Given the description of an element on the screen output the (x, y) to click on. 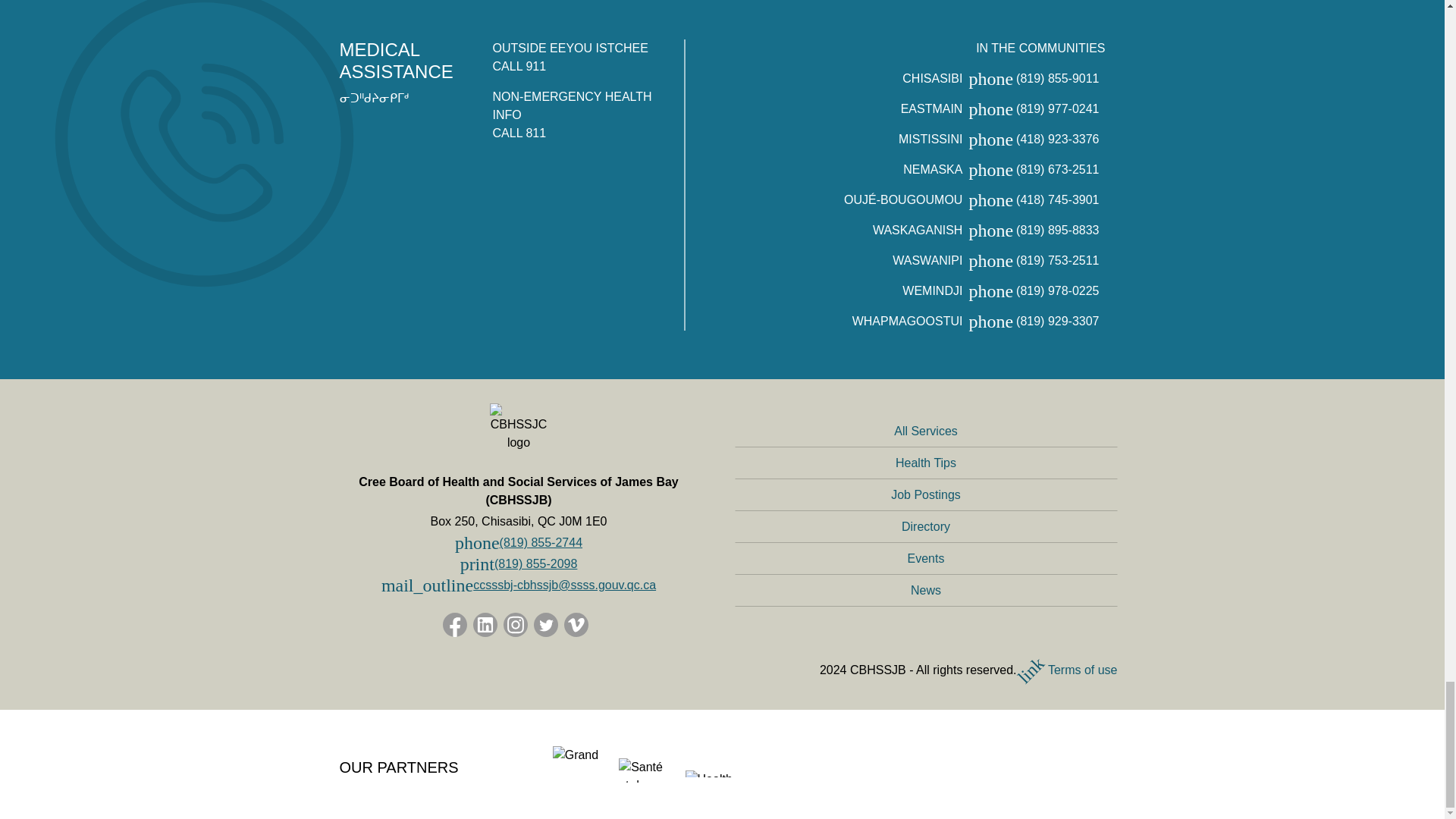
All services for clients offered by CBHSSJB  (925, 431)
Health tips (925, 462)
